Given the description of an element on the screen output the (x, y) to click on. 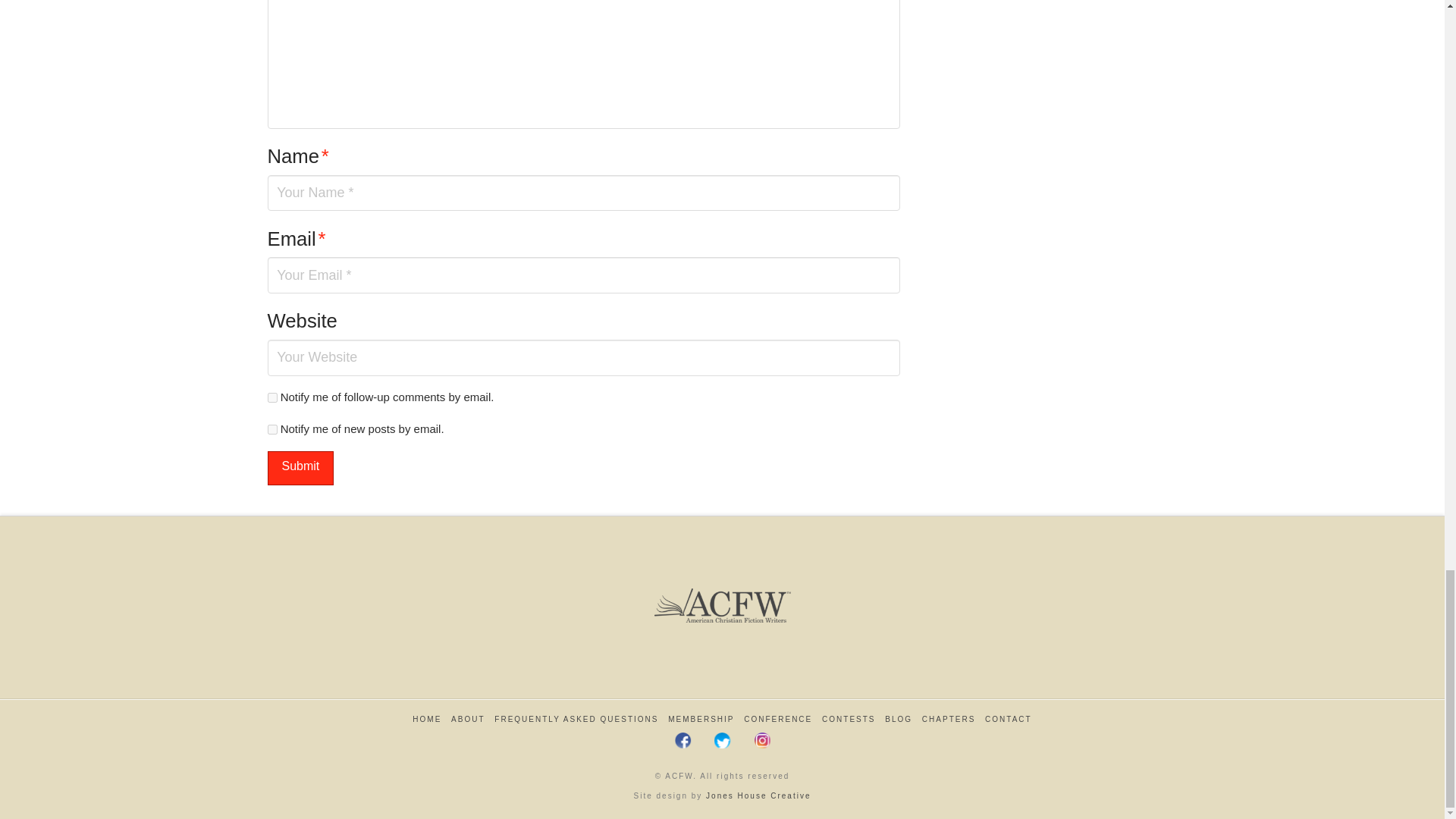
Facebook (683, 740)
subscribe (271, 397)
Submit (299, 468)
subscribe (271, 429)
Instagram (762, 740)
